Given the description of an element on the screen output the (x, y) to click on. 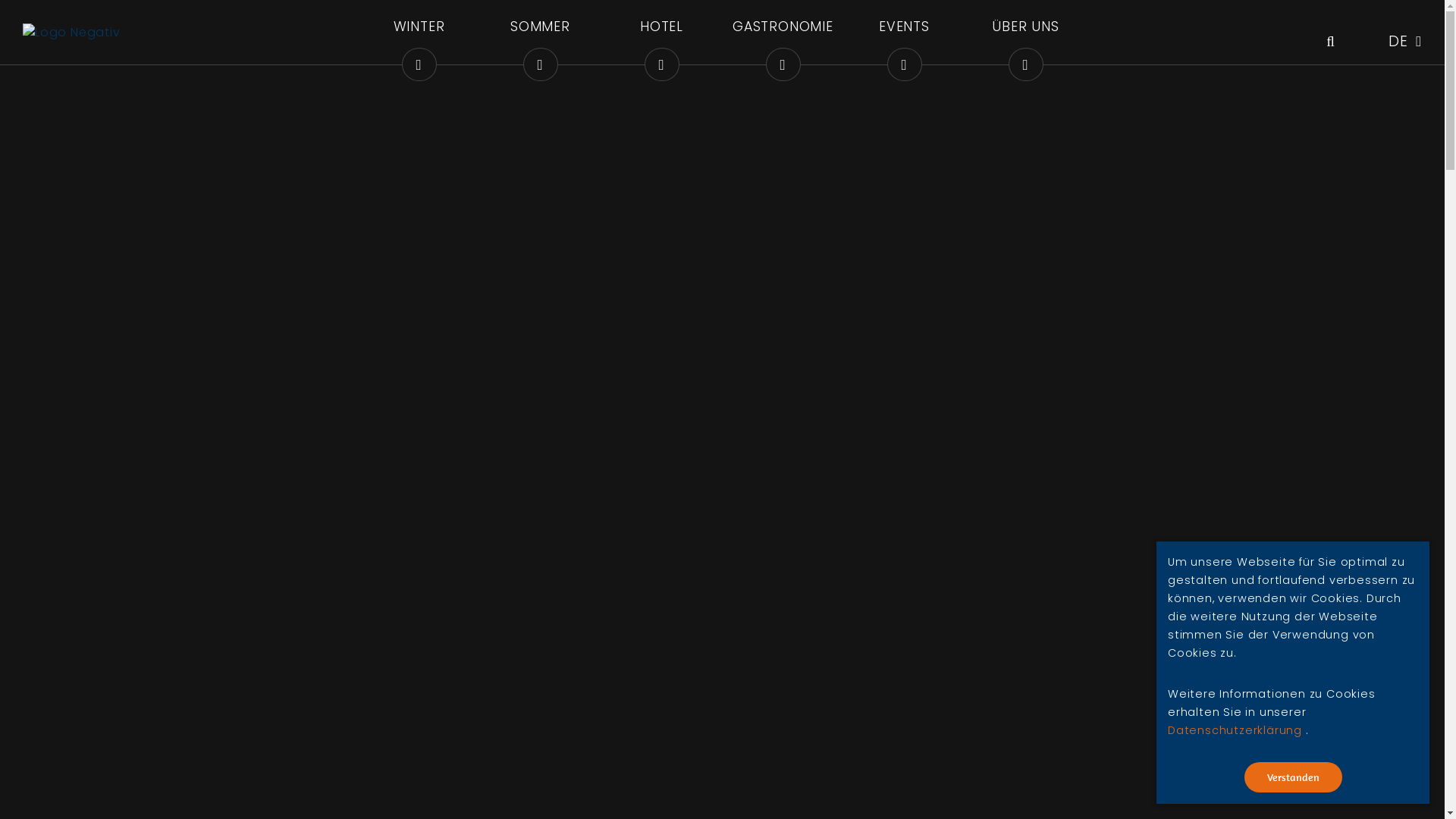
Gutscheine Element type: text (1325, 655)
Mehr erfahren Element type: text (820, 598)
Schweizer Skischule Grindelwald - Outdoor Element type: text (913, 492)
Intersport Rent Network Element type: text (850, 510)
Verstanden Element type: text (1292, 777)
Livecam Element type: text (1313, 704)
HOTEL Element type: text (661, 34)
Jetzt buchen   Element type: text (1335, 753)
EVENTS Element type: text (903, 34)
SOMMER Element type: text (539, 34)
GASTRONOMIE Element type: text (782, 34)
WINTER Element type: text (418, 34)
